Given the description of an element on the screen output the (x, y) to click on. 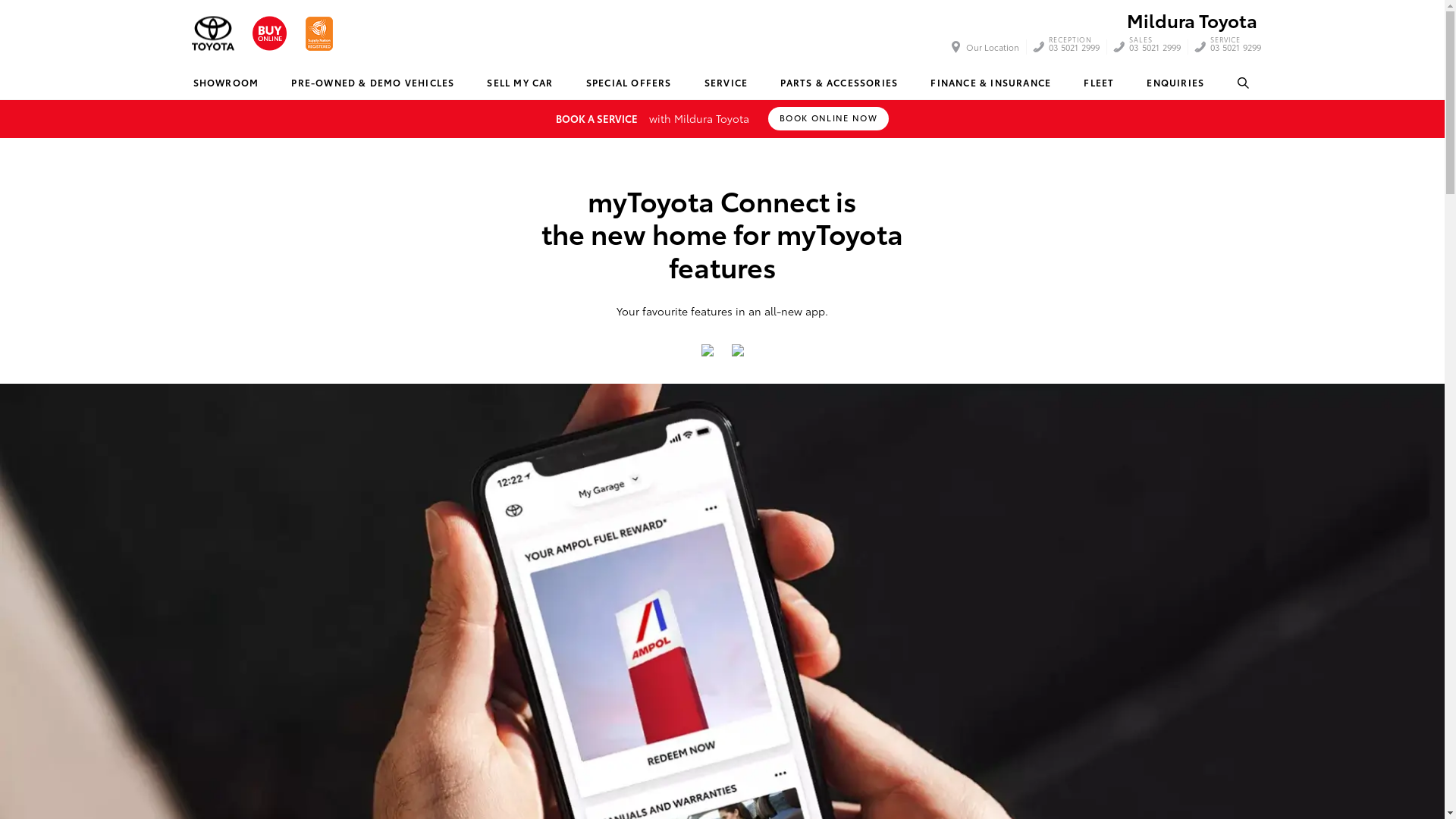
BOOK A SERVICE
with Mildura Toyota
BOOK ONLINE NOW Element type: text (722, 118)
SALES
03 5021 2999 Element type: text (1154, 46)
PARTS & ACCESSORIES Element type: text (838, 82)
Buy Online Element type: hover (268, 33)
SHOWROOM Element type: text (224, 82)
FINANCE & INSURANCE Element type: text (989, 82)
Our Location Element type: text (986, 46)
RECEPTION
03 5021 2999 Element type: text (1074, 46)
SEARCH Element type: text (1243, 82)
SPECIAL OFFERS Element type: text (628, 82)
ENQUIRIES Element type: text (1174, 82)
SERVICE
03 5021 9299 Element type: text (1235, 46)
SERVICE Element type: text (725, 82)
Mildura Toyota Element type: text (1191, 20)
PRE-OWNED & DEMO VEHICLES Element type: text (372, 82)
Mildura Toyota Element type: hover (212, 33)
FLEET Element type: text (1097, 82)
SELL MY CAR Element type: text (519, 82)
